Given the description of an element on the screen output the (x, y) to click on. 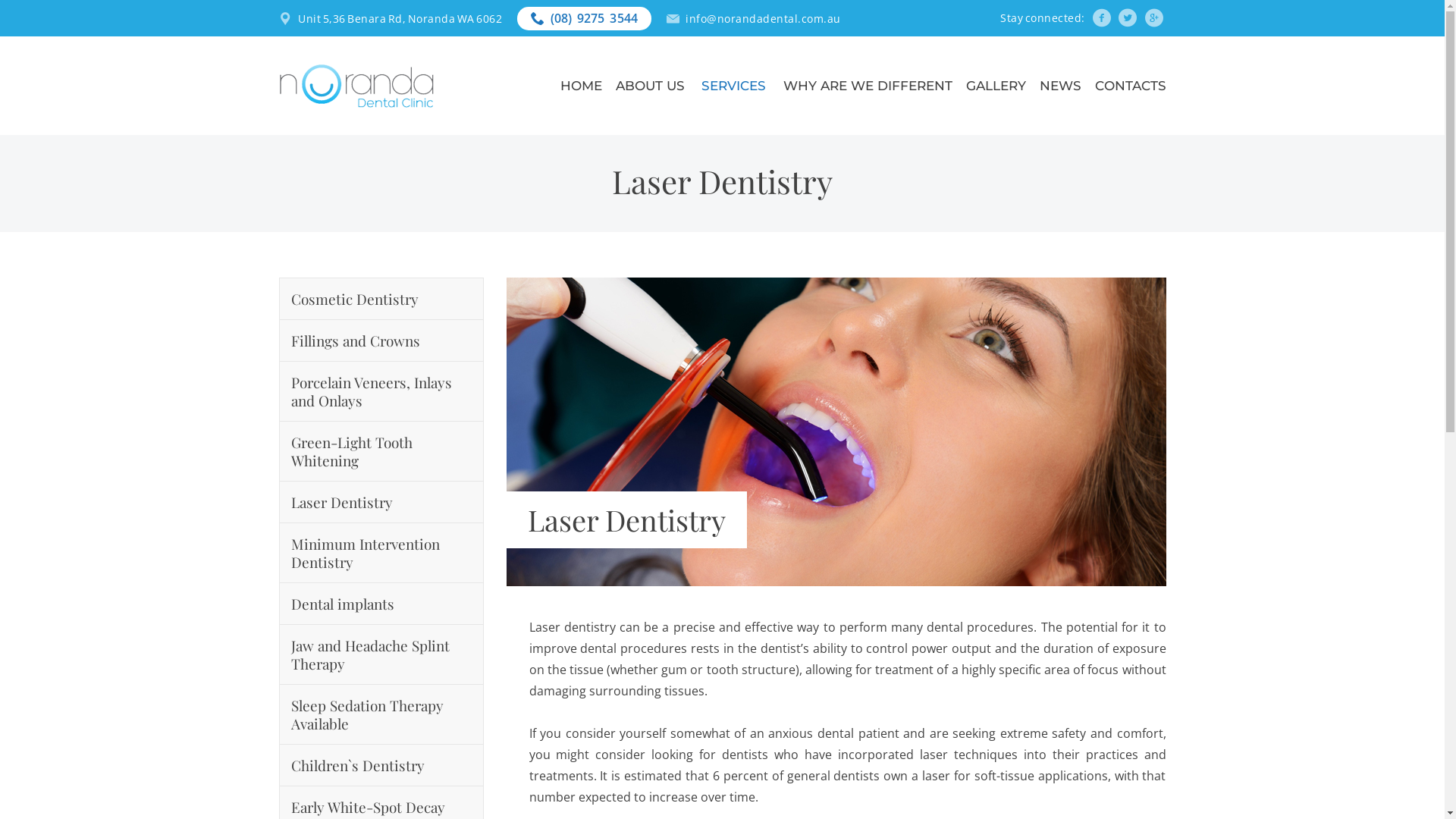
Sleep Sedation Therapy Available Element type: text (380, 714)
HOME Element type: text (581, 85)
NEWS Element type: text (1059, 85)
Green-Light Tooth Whitening Element type: text (380, 451)
CONTACTS Element type: text (1130, 85)
Minimum Intervention Dentistry Element type: text (380, 553)
(08) 9275 3544 Element type: text (593, 17)
Children`s Dentistry Element type: text (380, 765)
Cosmetic Dentistry Element type: text (380, 299)
Dental implants Element type: text (380, 603)
GALLERY Element type: text (996, 85)
SERVICES Element type: text (734, 85)
info@norandadental.com.au Element type: text (762, 18)
ABOUT US Element type: text (651, 85)
Jaw and Headache Splint Therapy Element type: text (380, 654)
Laser Dentistry Element type: text (380, 502)
Porcelain Veneers, Inlays and Onlays Element type: text (380, 391)
WHY ARE WE DIFFERENT Element type: text (866, 85)
Fillings and Crowns Element type: text (380, 340)
